Given the description of an element on the screen output the (x, y) to click on. 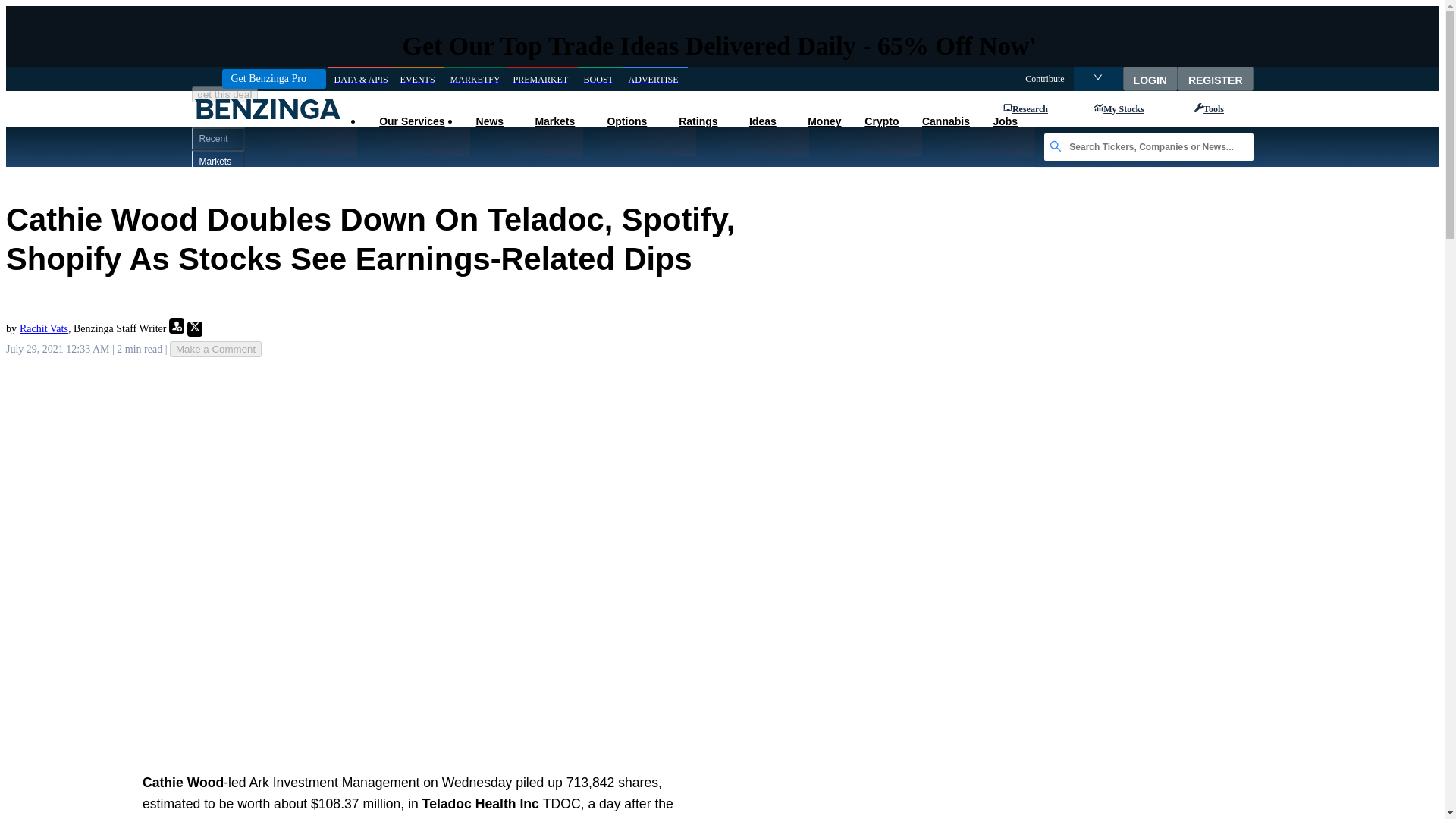
Contribute (1044, 78)
MARKETFY (475, 78)
News (489, 121)
Our Services (411, 121)
LOGIN (1149, 78)
ADVERTISE (655, 78)
Get Benzinga Pro (272, 78)
PREMARKET (542, 78)
get this deal (223, 94)
BOOST (600, 78)
